Given the description of an element on the screen output the (x, y) to click on. 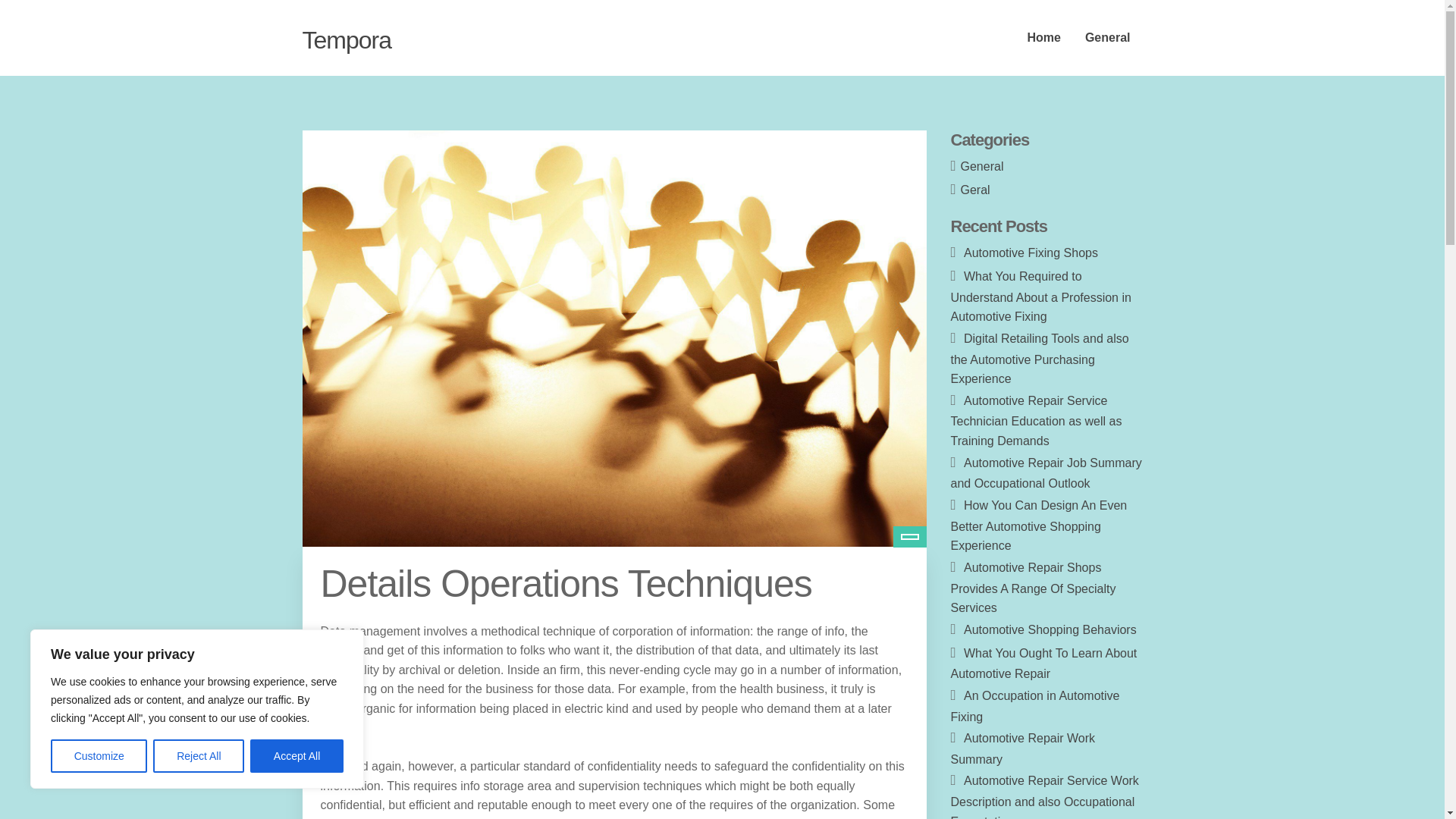
Customize (98, 756)
Automotive Fixing Shops (1030, 252)
Home (1042, 37)
Accept All (296, 756)
Geral (975, 189)
Tempora (346, 39)
General (1107, 37)
General (982, 165)
Reject All (198, 756)
